Given the description of an element on the screen output the (x, y) to click on. 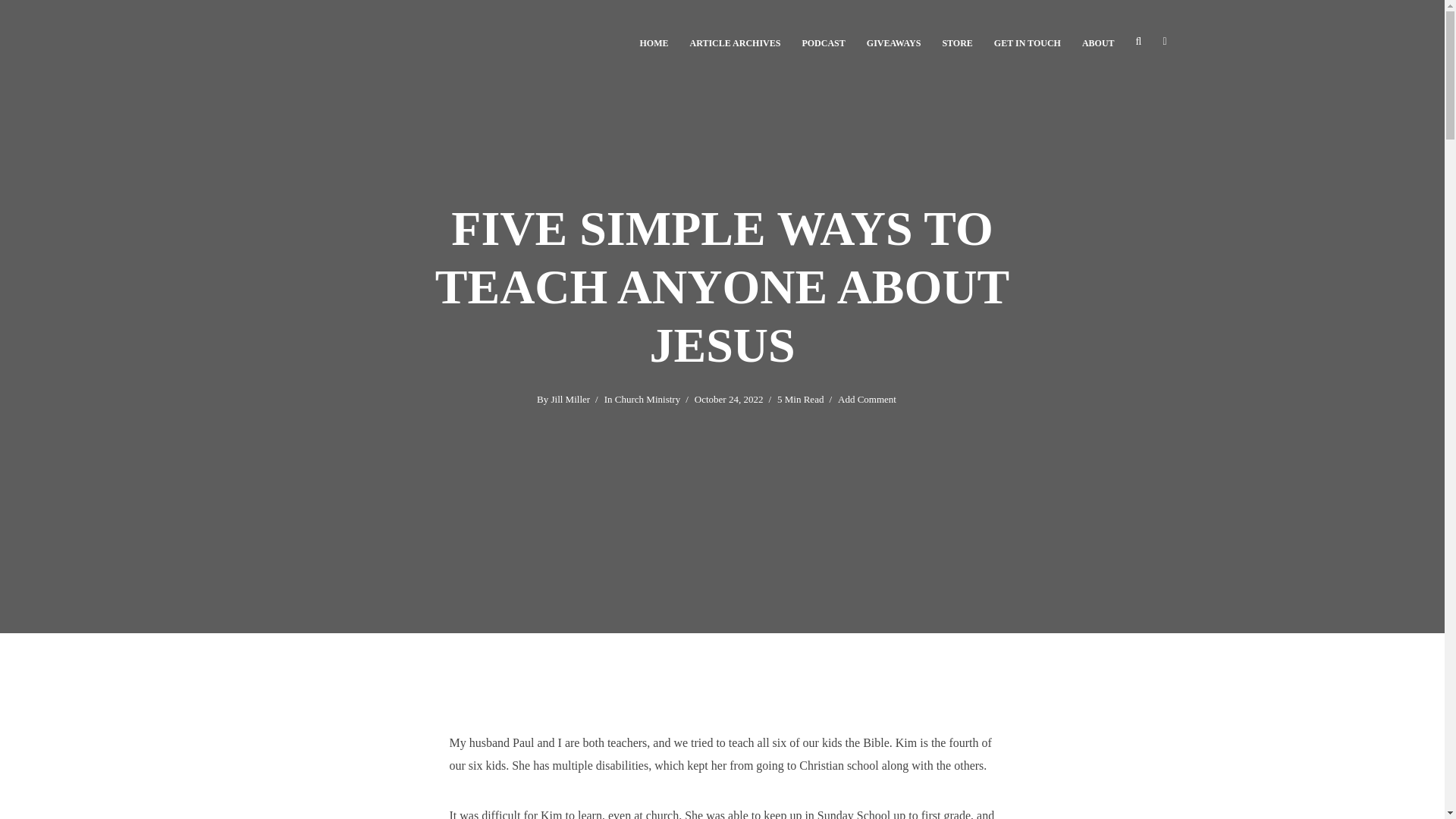
Church Ministry (646, 400)
Jill Miller (569, 400)
About (1098, 40)
ARTICLE ARCHIVES (735, 40)
New Growth Press (956, 40)
ABOUT (1098, 40)
PODCAST (823, 40)
Home (653, 40)
HOME (653, 40)
Add Comment (867, 400)
